Given the description of an element on the screen output the (x, y) to click on. 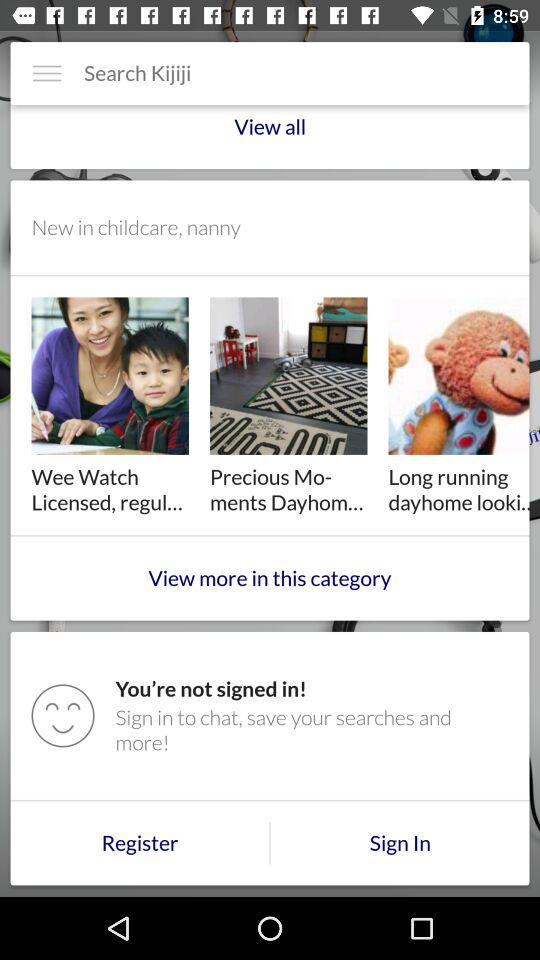
turn off register item (139, 843)
